Given the description of an element on the screen output the (x, y) to click on. 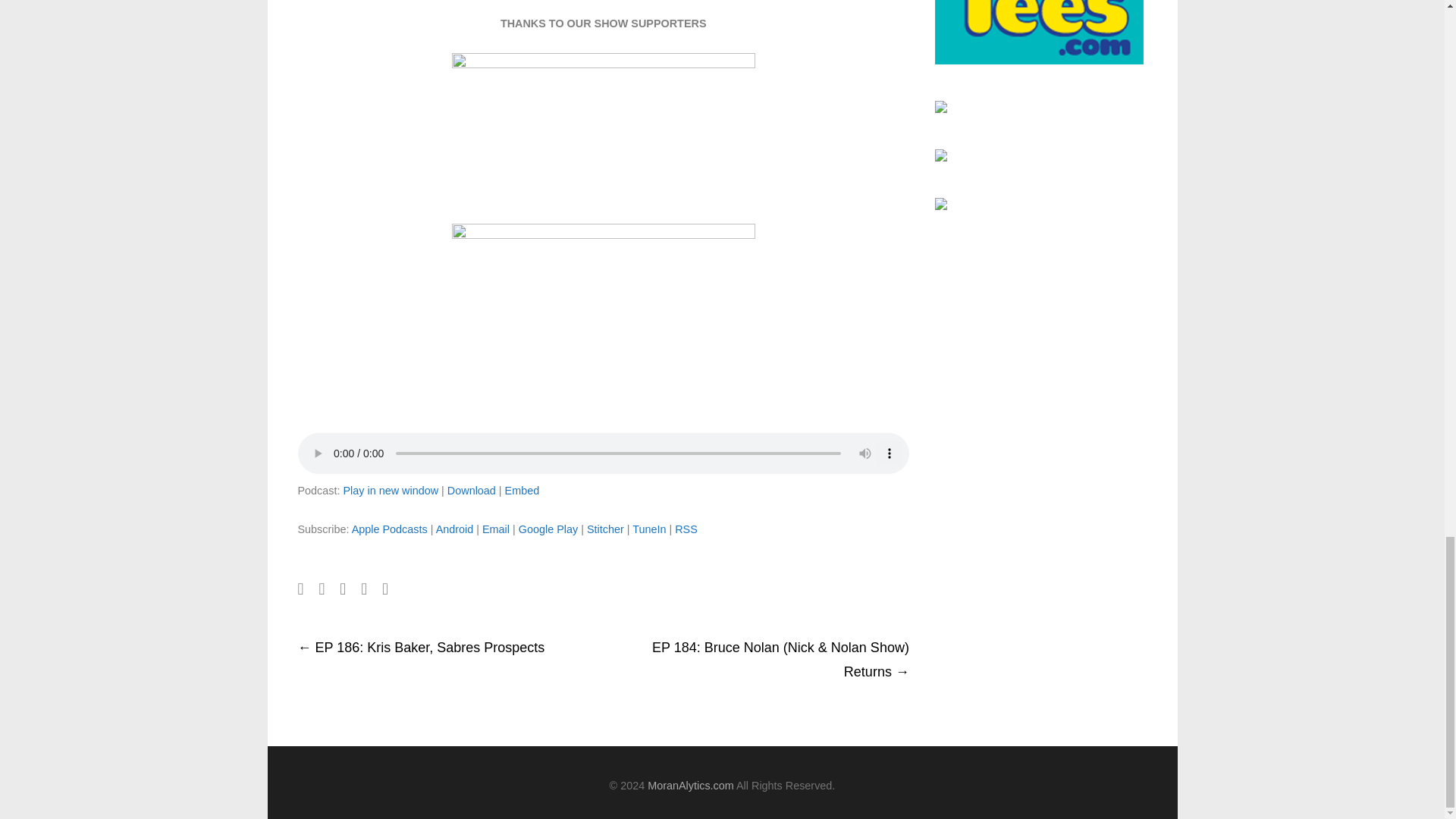
TuneIn (648, 529)
Play in new window (390, 490)
Play in new window (390, 490)
Subscribe on Google Play (548, 529)
RSS (686, 529)
Subscribe by Email (495, 529)
Email (495, 529)
Stitcher (605, 529)
Download (471, 490)
Subscribe on Android (454, 529)
